Given the description of an element on the screen output the (x, y) to click on. 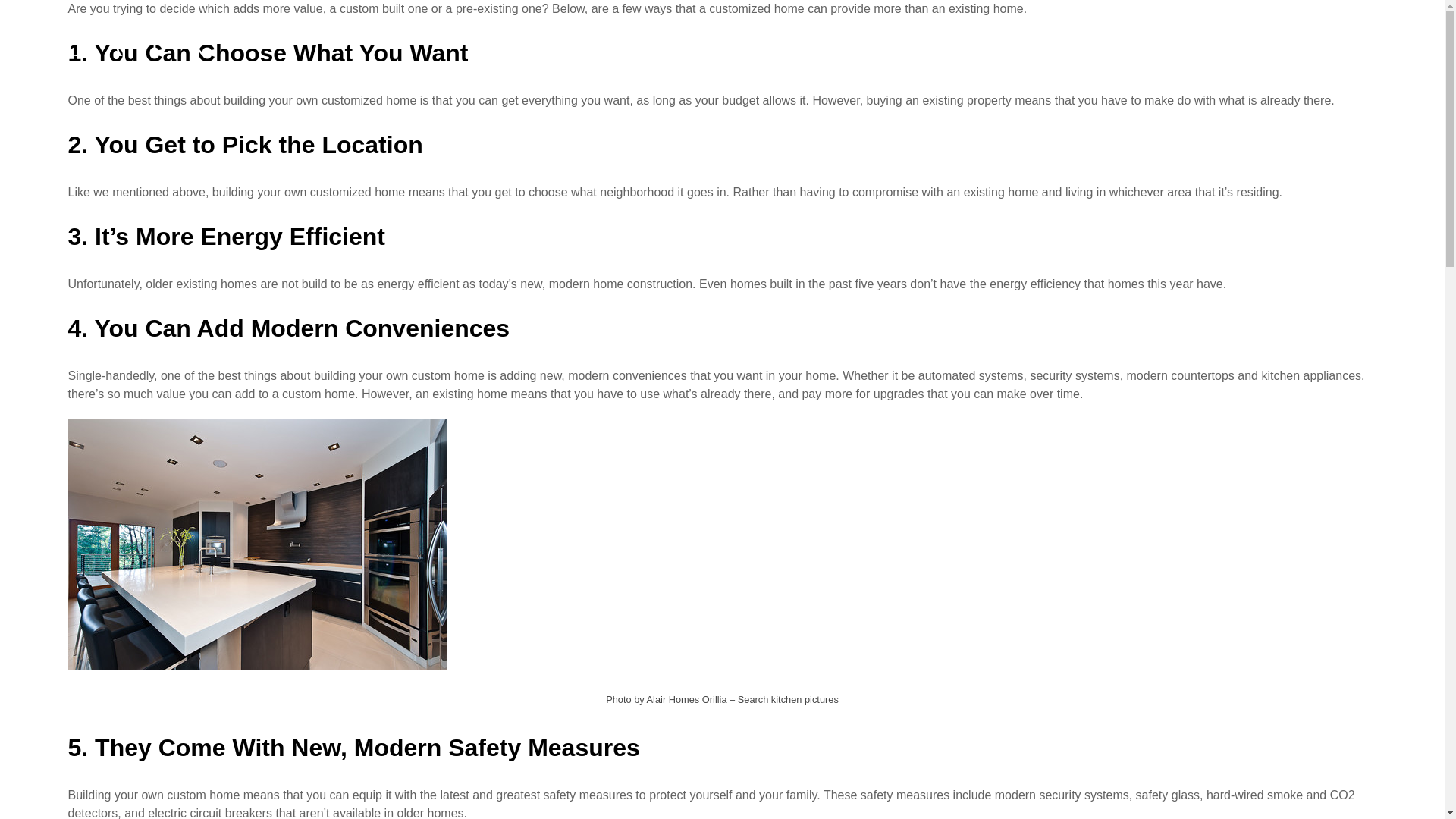
SCHEDULE A CONSULTATION (1283, 46)
Search kitchen pictures (788, 699)
BLOG (1091, 46)
BUILD (801, 46)
ABOUT (1002, 46)
Photo by Alair Homes Orillia (665, 699)
RENOVATE (893, 46)
